Given the description of an element on the screen output the (x, y) to click on. 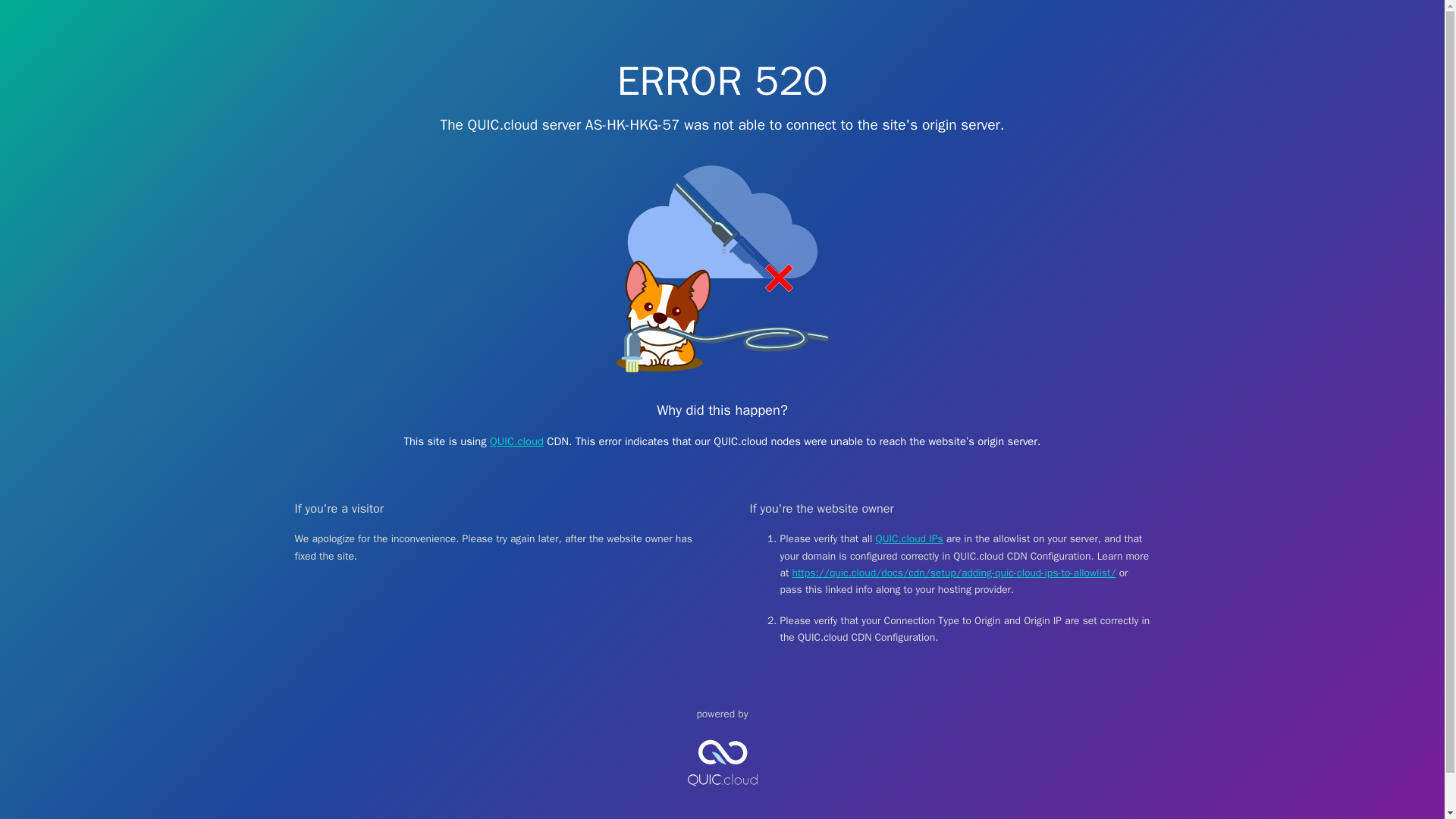
QUIC.cloud (721, 798)
QUIC.cloud IPs (909, 538)
QUIC.cloud (516, 440)
